Given the description of an element on the screen output the (x, y) to click on. 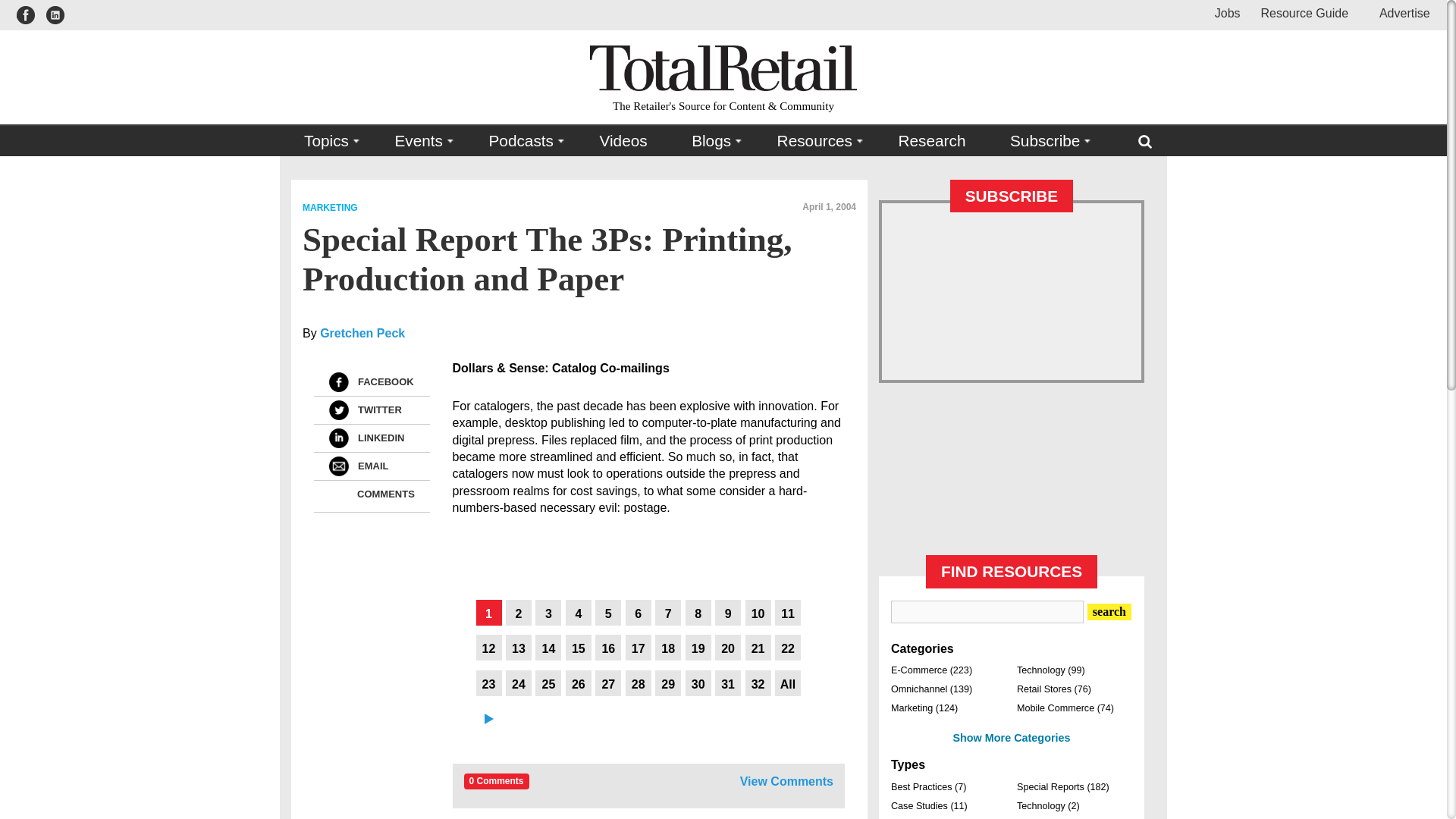
Twitter (339, 410)
Facebook (339, 382)
LinkedIn (339, 437)
Resource Guide (1304, 12)
Email Link (339, 465)
Videos (622, 141)
search (1109, 611)
Events (418, 141)
Podcasts (521, 141)
Blogs (711, 141)
Topics (327, 141)
Jobs (1227, 12)
Advertise (1398, 12)
